Given the description of an element on the screen output the (x, y) to click on. 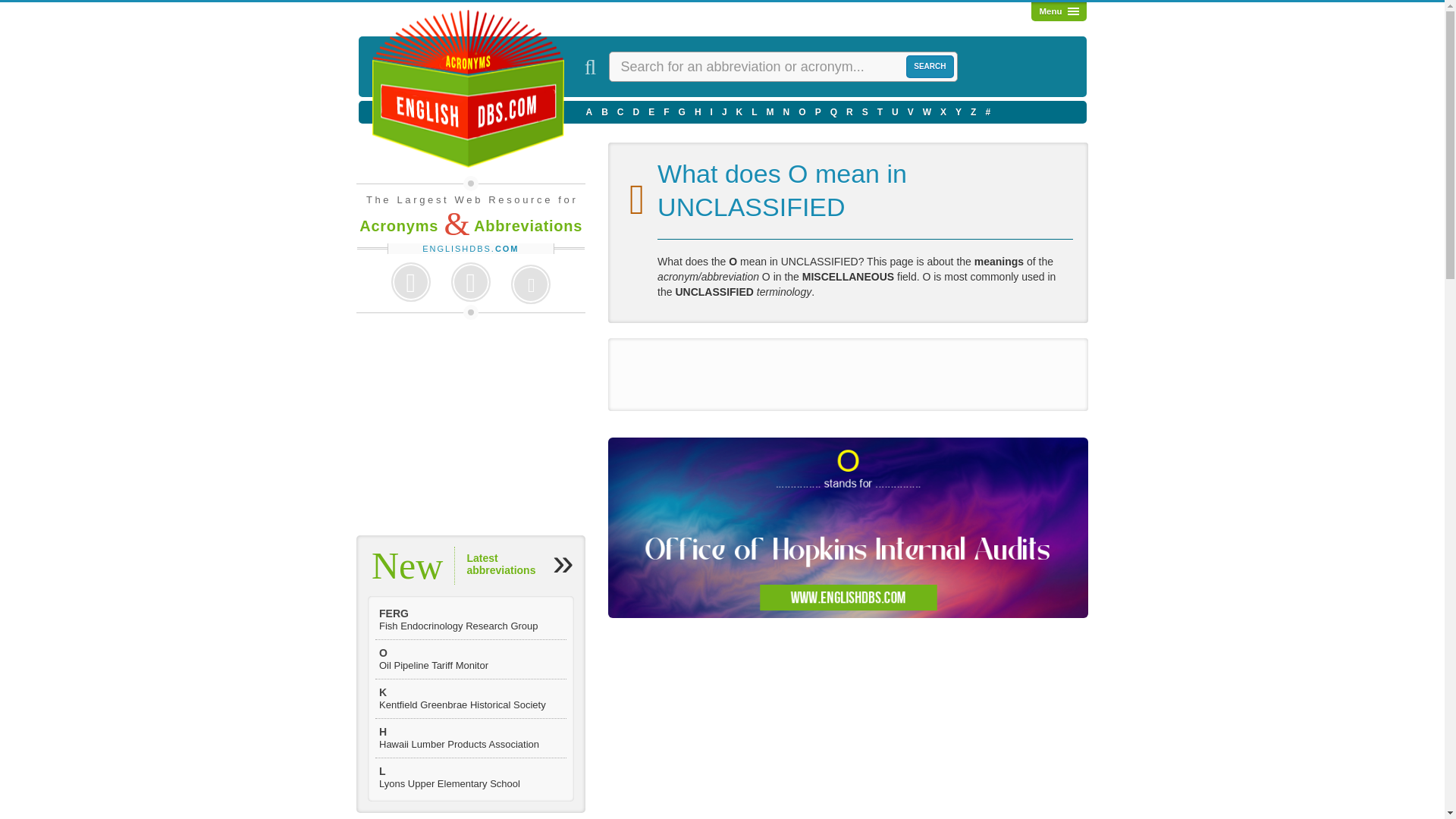
F (665, 111)
L (754, 111)
R (850, 111)
G (681, 111)
Facebook Page (410, 282)
T (879, 111)
U (895, 111)
English DB's (464, 88)
V (910, 111)
K (739, 111)
Q (834, 111)
P (817, 111)
Advertisement (470, 425)
SEARCH (929, 66)
O means Office of Hopkins Internal Audits (847, 527)
